Given the description of an element on the screen output the (x, y) to click on. 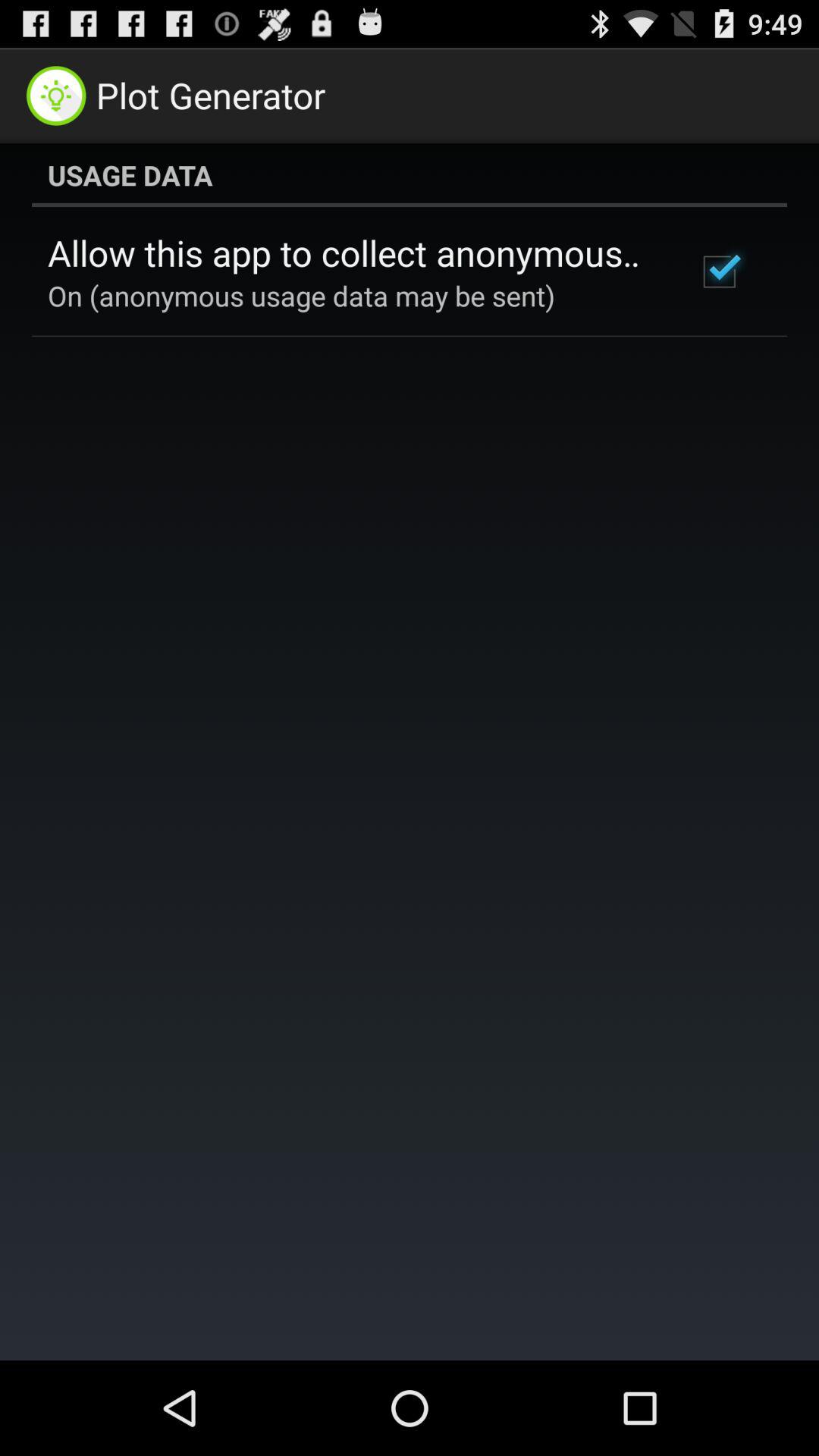
scroll until allow this app icon (351, 252)
